Given the description of an element on the screen output the (x, y) to click on. 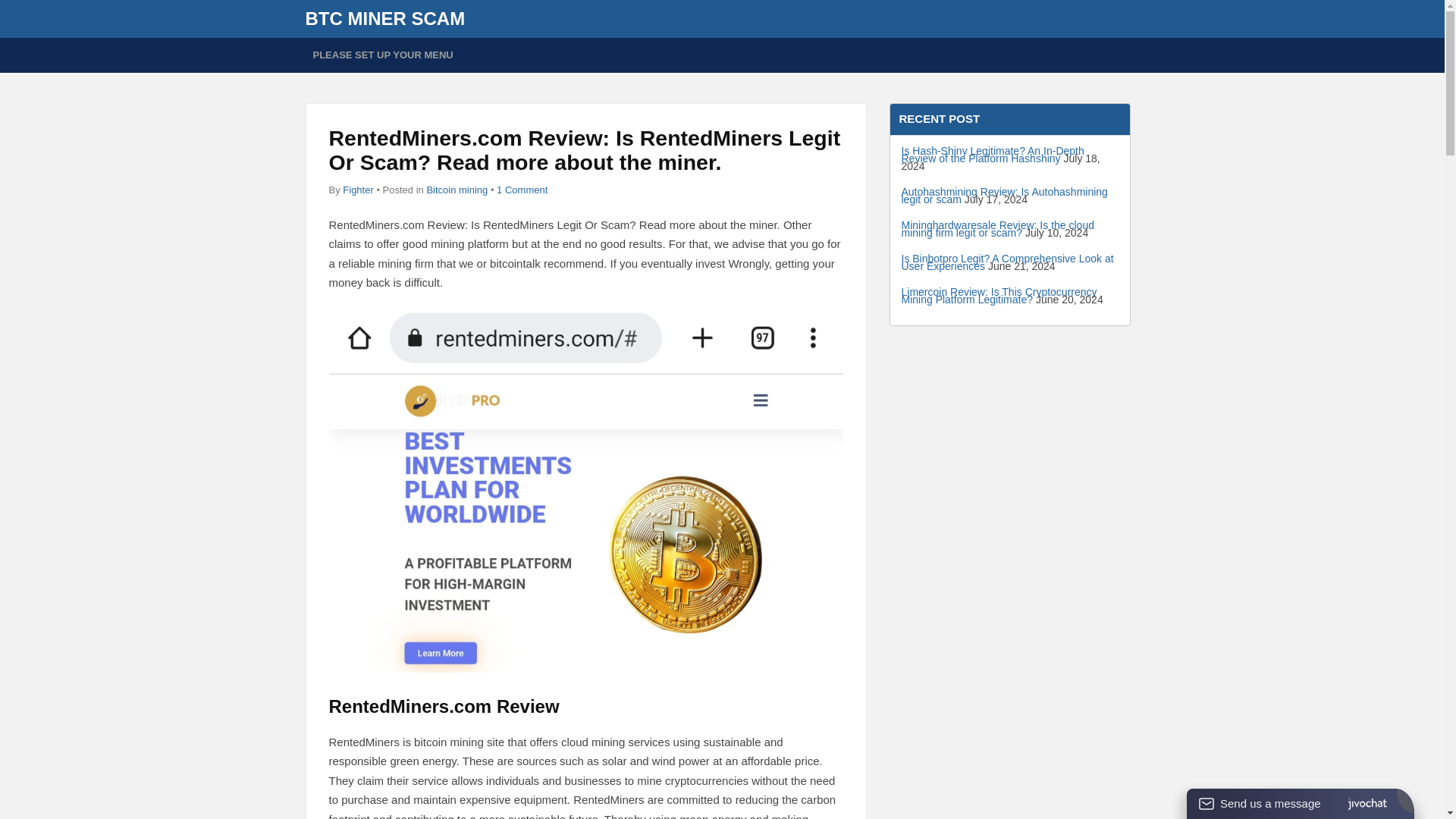
BTC MINER SCAM (384, 18)
PLEASE SET UP YOUR MENU (382, 54)
Is Binbotpro Legit? A Comprehensive Look at User Experiences (1007, 261)
Autohashmining Review: Is Autohashmining legit or scam (1003, 195)
Fighter (357, 189)
Posts by Fighter (357, 189)
1 Comment (521, 189)
Bitcoin mining (456, 189)
